Given the description of an element on the screen output the (x, y) to click on. 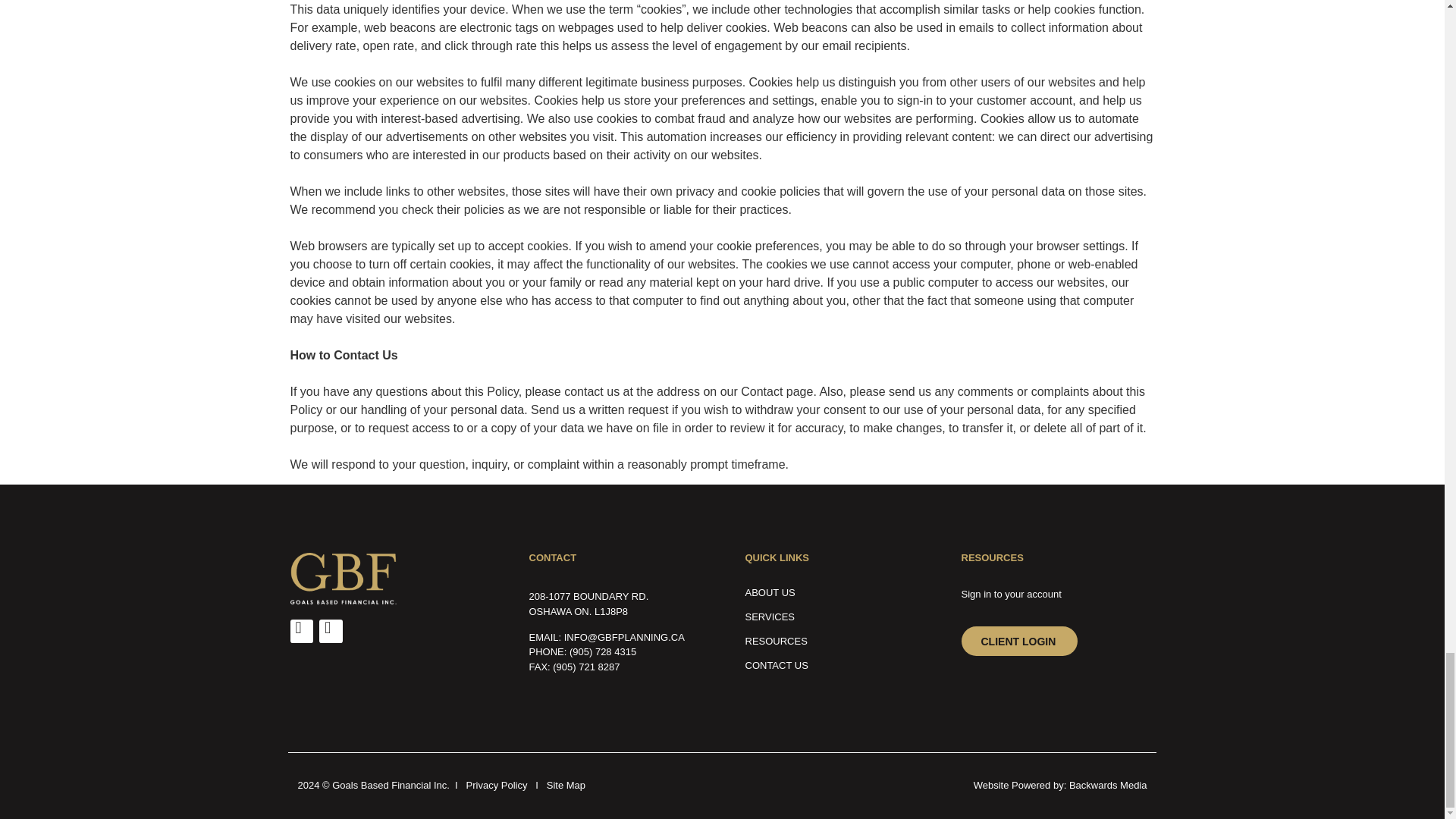
CLIENT LOGIN (1019, 641)
SERVICES (829, 617)
Privacy Policy (496, 785)
Backwards Media (1107, 785)
CONTACT US (829, 665)
ABOUT US (829, 592)
RESOURCES (829, 641)
Site Map (566, 785)
